Given the description of an element on the screen output the (x, y) to click on. 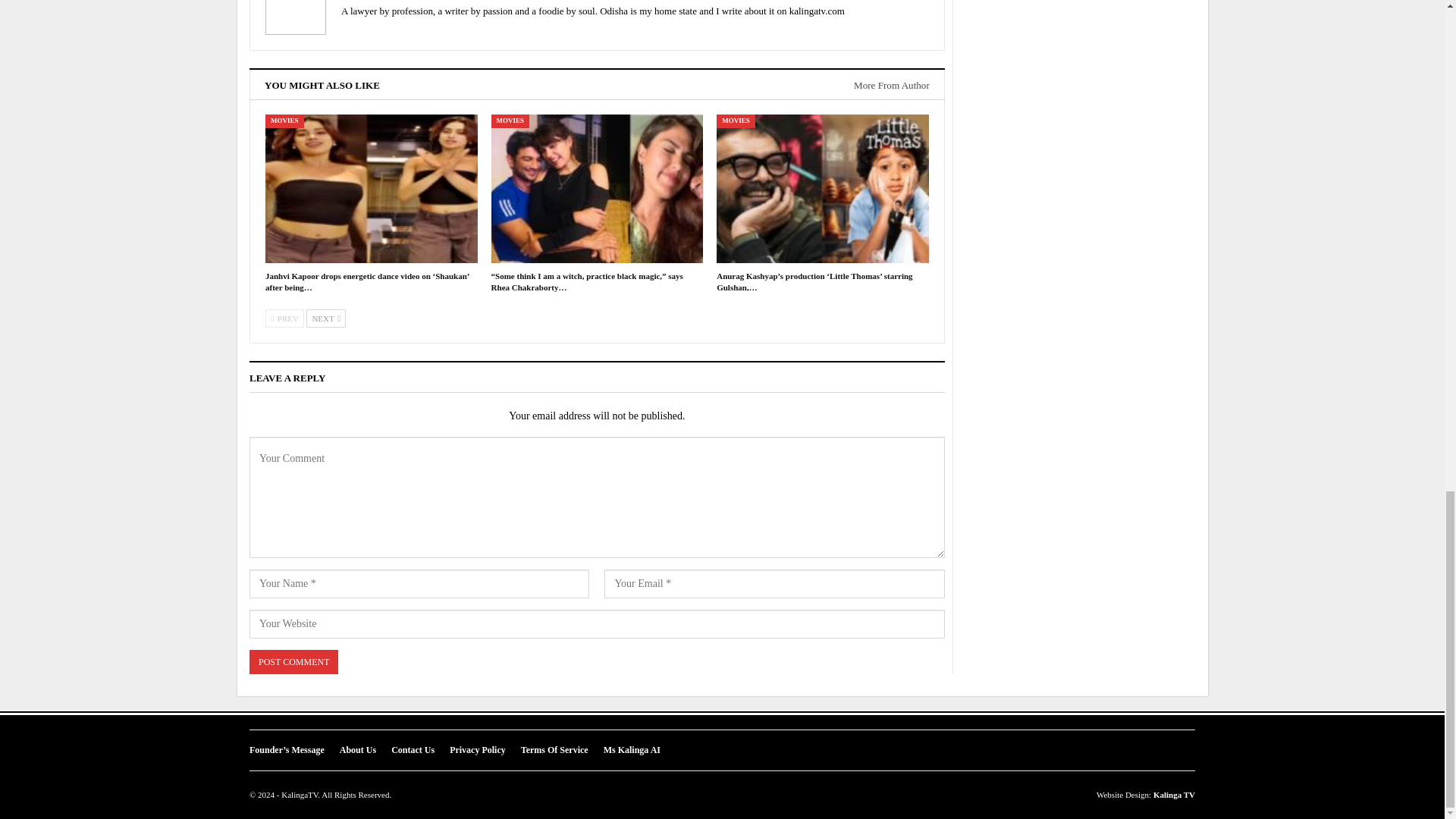
Previous (284, 318)
Post Comment (292, 662)
Next (325, 318)
